Given the description of an element on the screen output the (x, y) to click on. 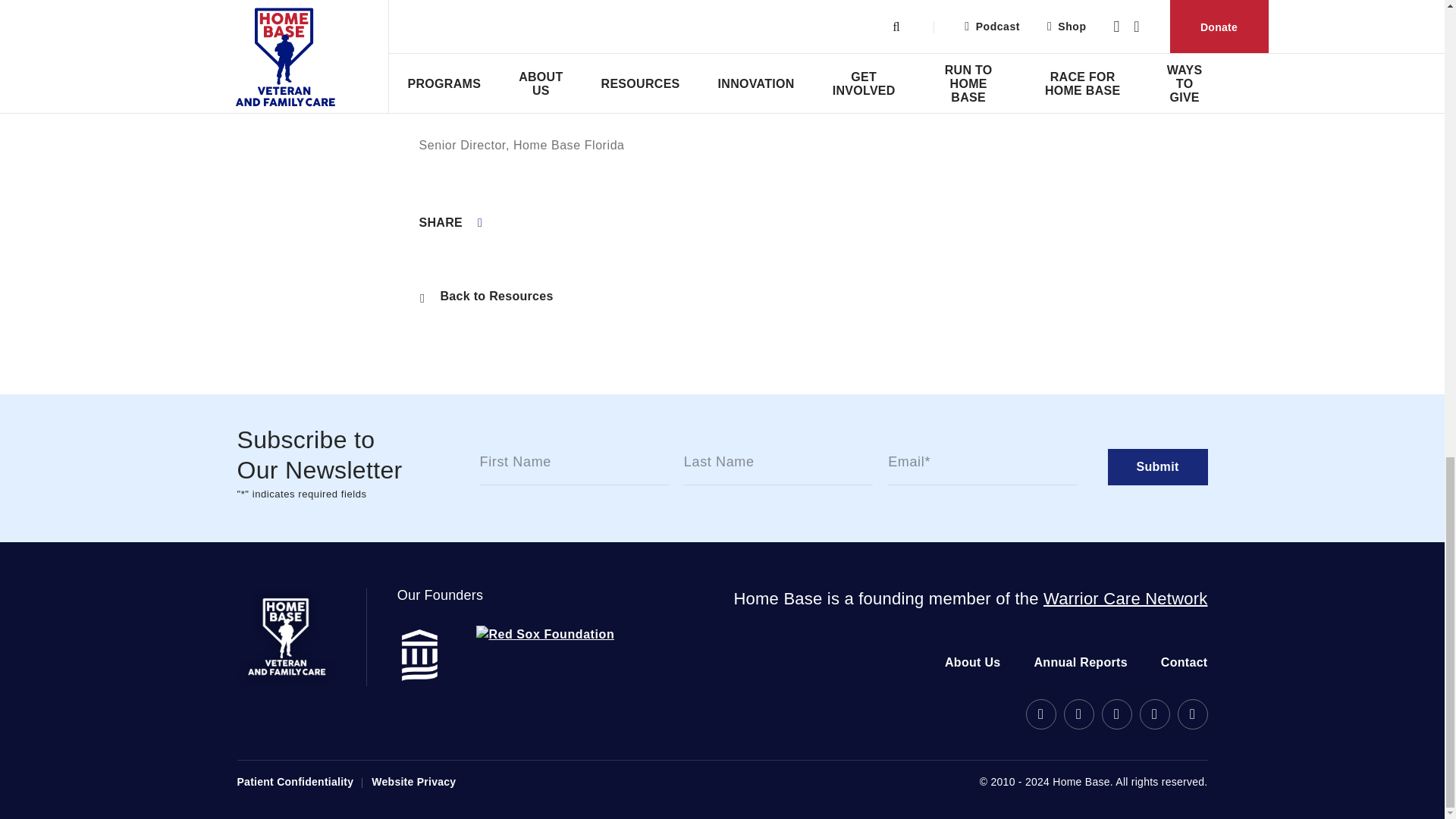
Submit (1156, 466)
Connect with us on LinkedIn (1191, 714)
Watch us on YouTube (1153, 714)
Find us on Instagram (1040, 714)
Follow us on Twitter (1115, 714)
Like us on Facebook (1077, 714)
Share this page (450, 223)
